Given the description of an element on the screen output the (x, y) to click on. 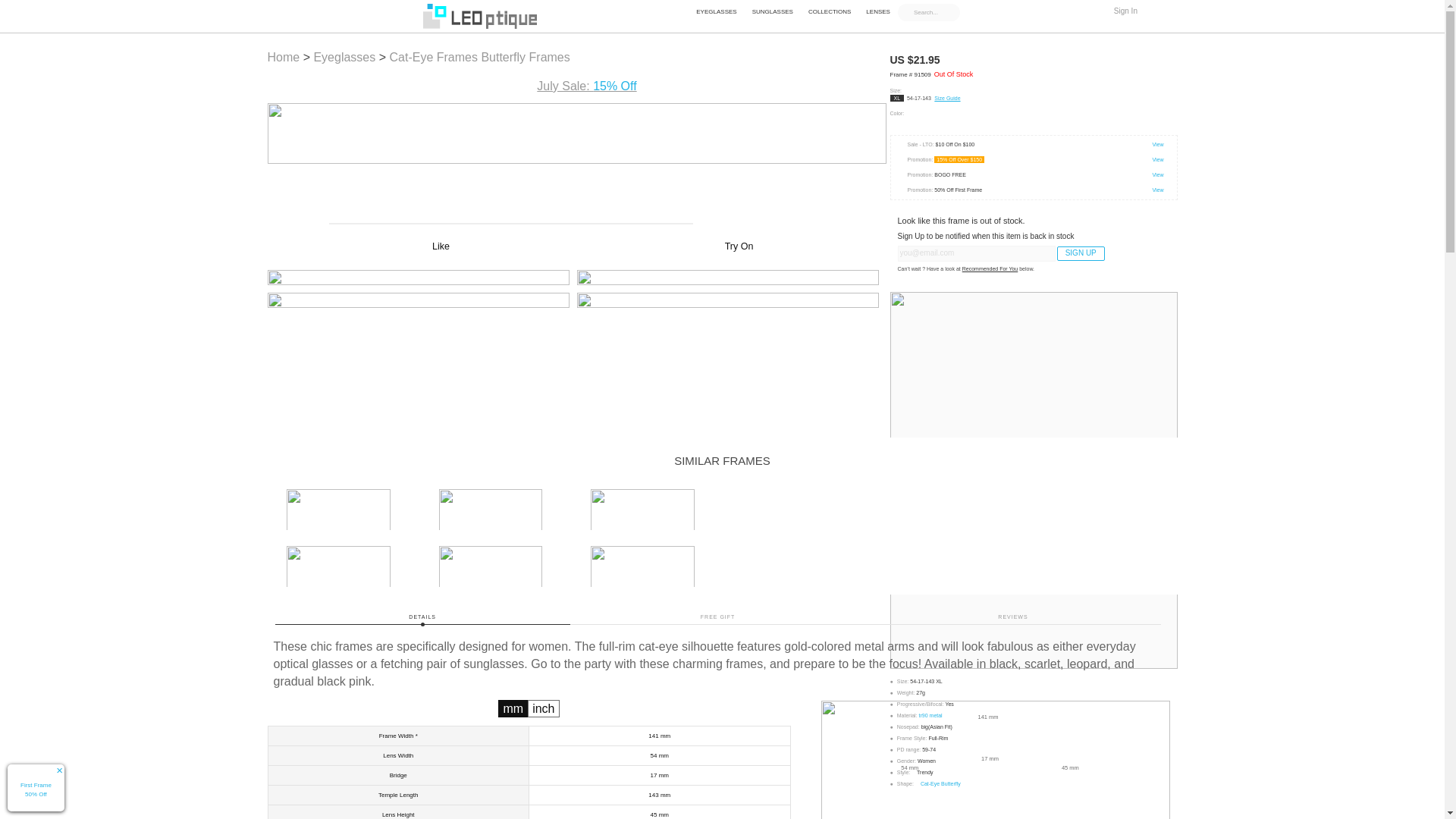
COLLECTIONS (829, 11)
SUNGLASSES (772, 11)
EYEGLASSES (716, 11)
cat-eye  frame (434, 56)
